Given the description of an element on the screen output the (x, y) to click on. 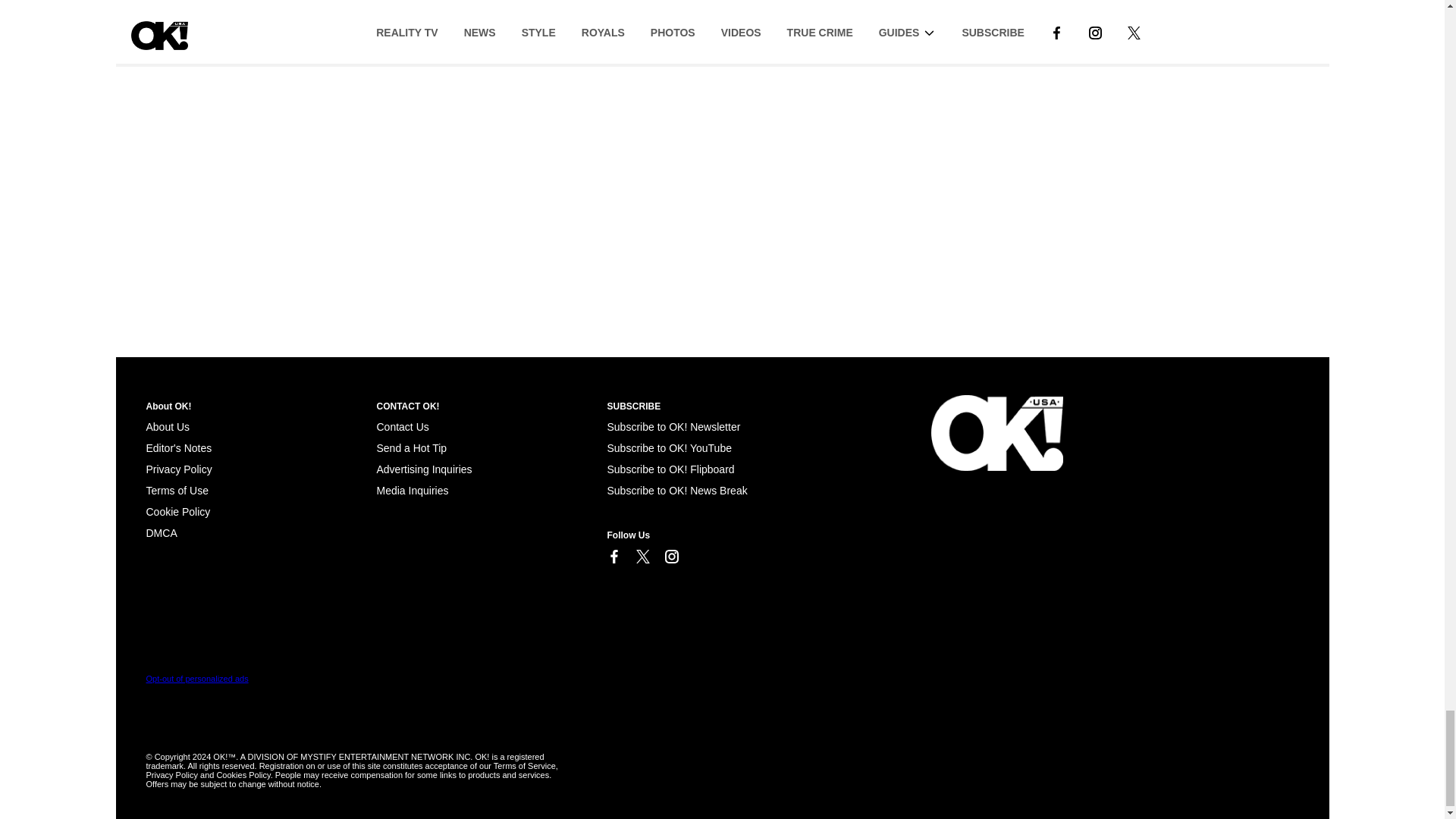
Link to Instagram (670, 556)
About Us (167, 426)
Cookie Policy (160, 532)
Editor's Notes (178, 448)
Terms of Use (176, 490)
Privacy Policy (178, 469)
Contact Us (401, 426)
Cookie Policy (177, 511)
Link to X (641, 556)
Link to Facebook (613, 556)
